Given the description of an element on the screen output the (x, y) to click on. 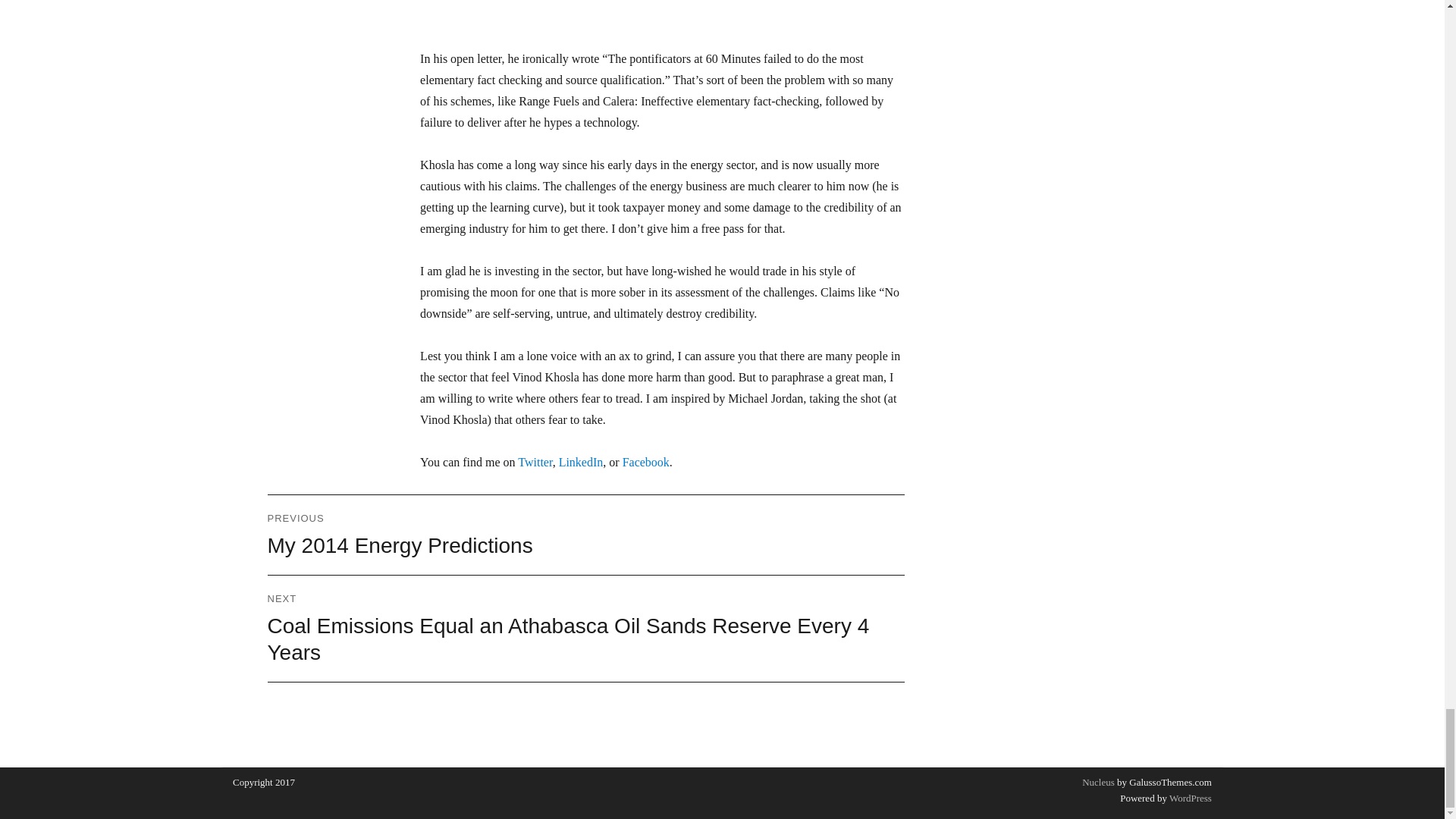
Facebook (585, 534)
LinkedIn (646, 461)
Twitter (581, 461)
Semantic Personal Publishing Platform (534, 461)
